Given the description of an element on the screen output the (x, y) to click on. 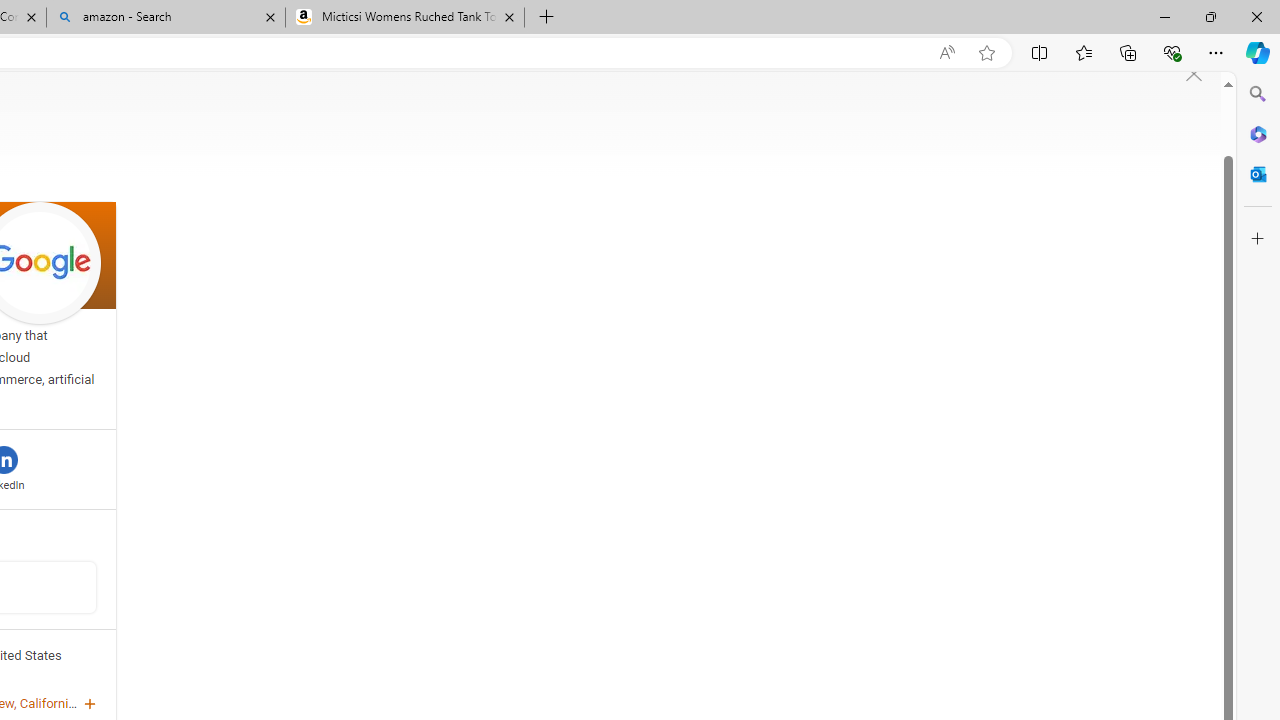
Microsoft 365 (1258, 133)
amazon - Search (166, 17)
Outlook (1258, 174)
Minimize (1164, 16)
